Given the description of an element on the screen output the (x, y) to click on. 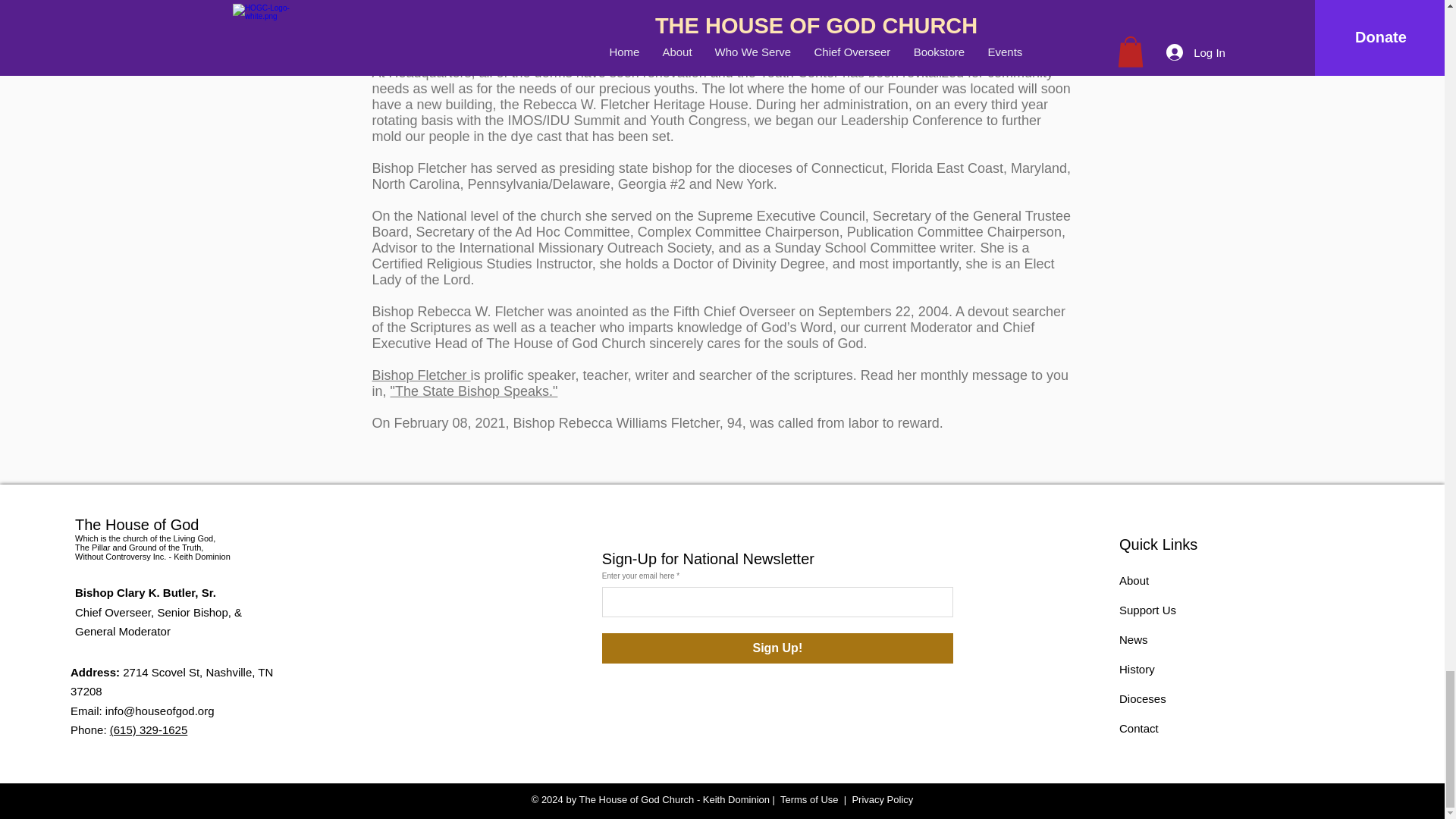
Privacy Policy (881, 799)
Bishop Fletcher  (420, 375)
"The State Bishop Speaks." (473, 391)
Terms of Use (809, 799)
